Given the description of an element on the screen output the (x, y) to click on. 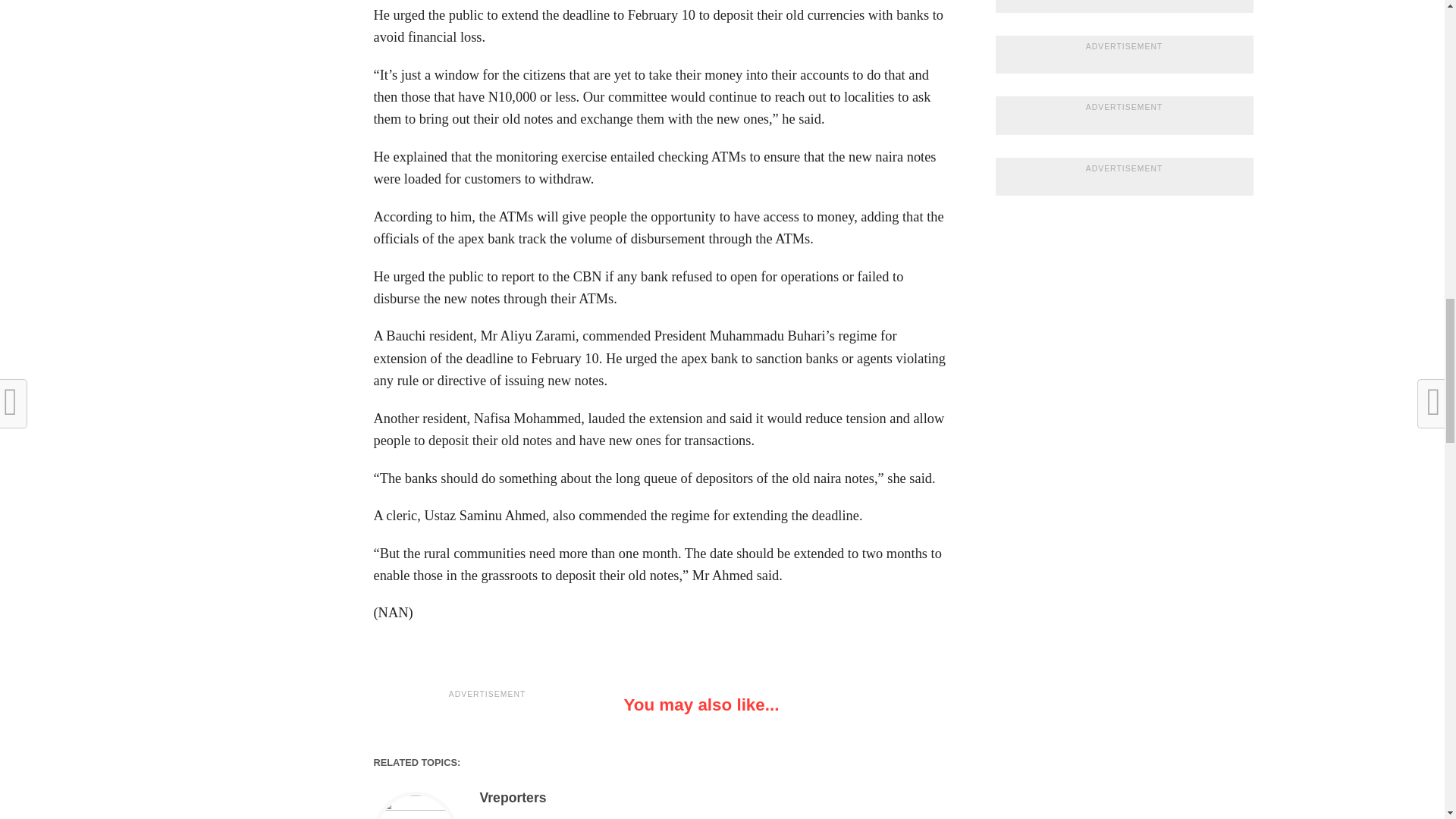
Vreporters (512, 797)
Posts by Vreporters (512, 797)
